Given the description of an element on the screen output the (x, y) to click on. 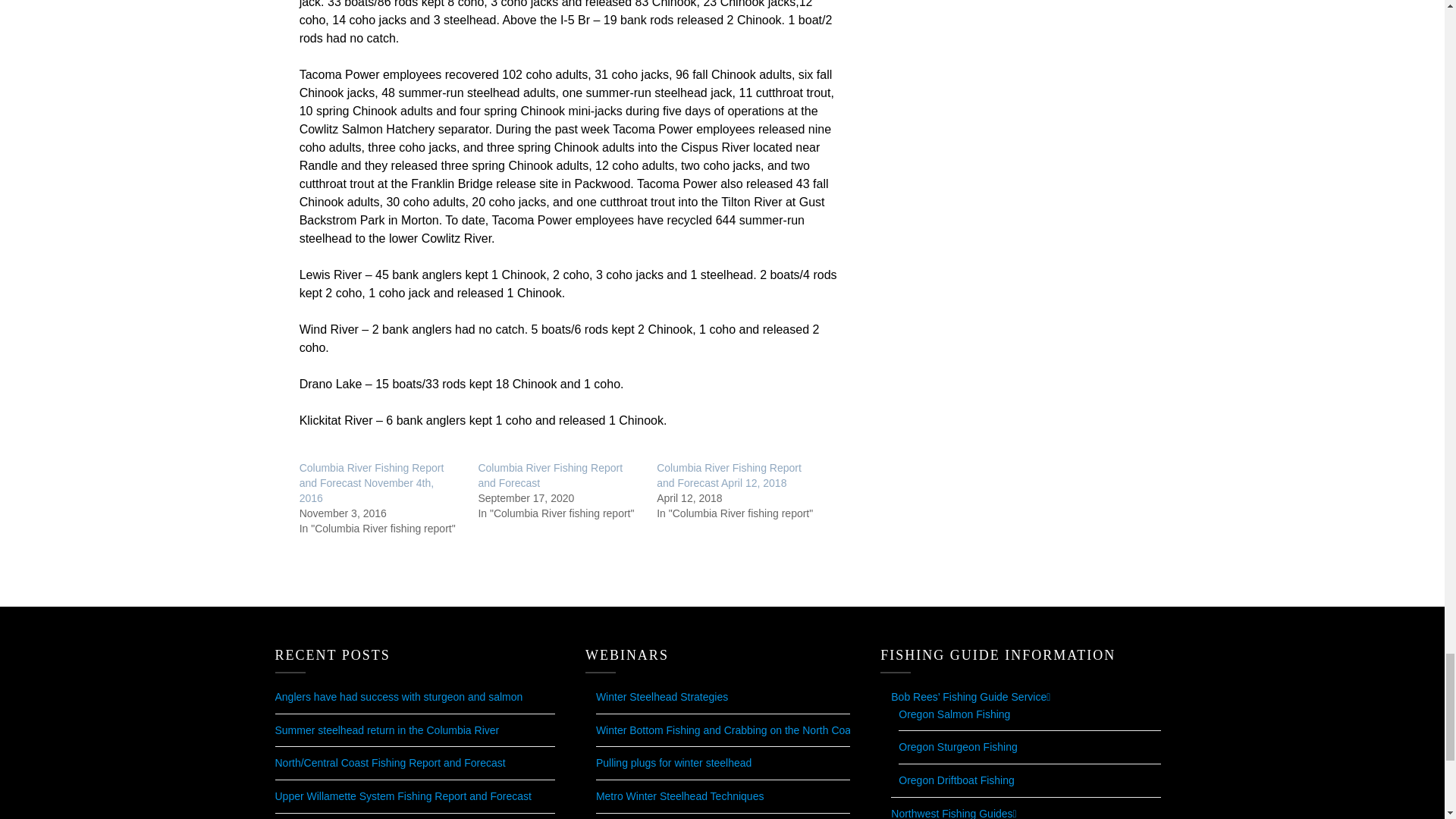
Columbia River Fishing Report and Forecast April 12, 2018 (729, 474)
Columbia River Fishing Report and Forecast (550, 474)
